Given the description of an element on the screen output the (x, y) to click on. 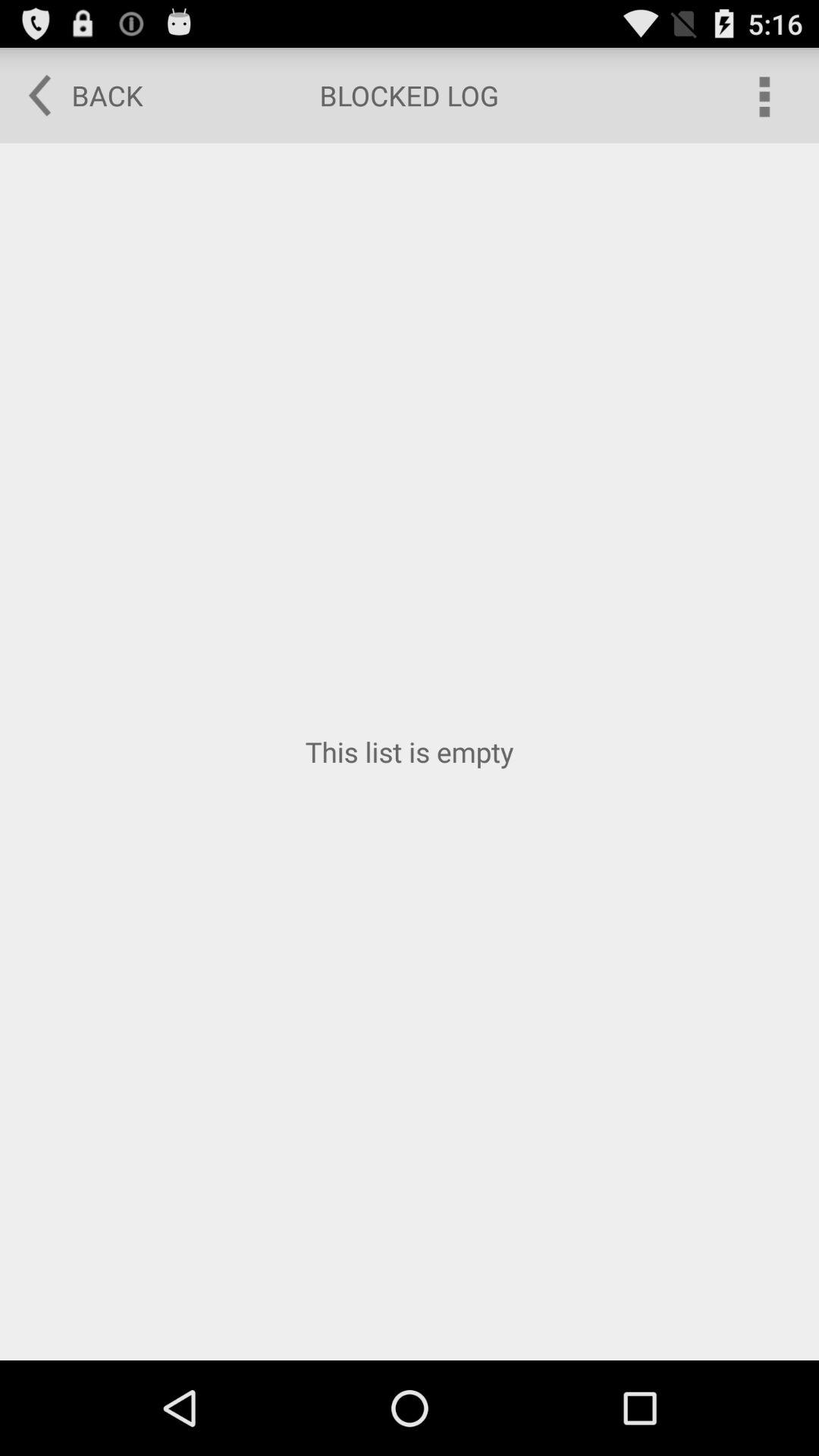
open menu (763, 95)
